Given the description of an element on the screen output the (x, y) to click on. 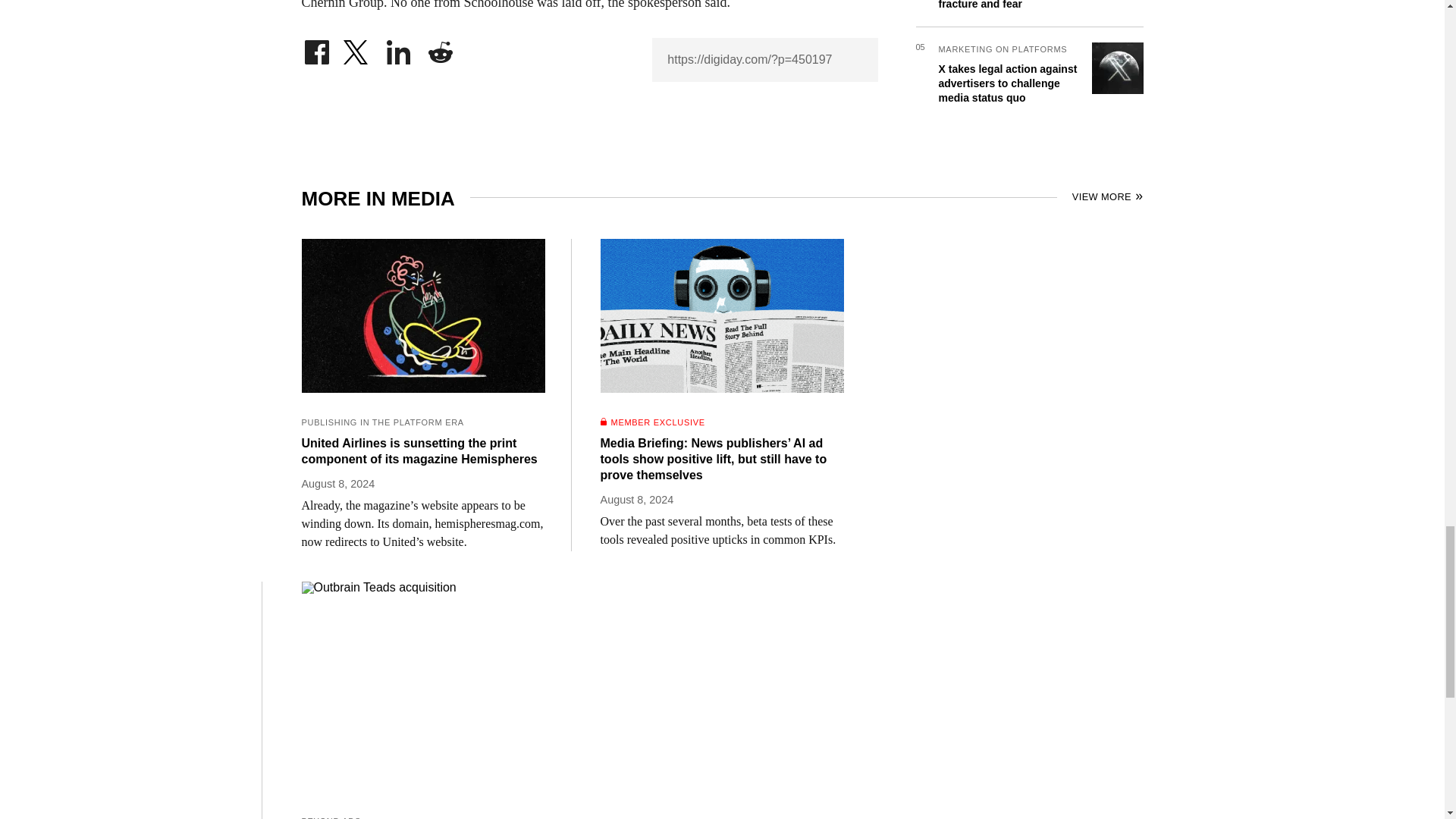
Share on LinkedIn (398, 48)
Share on Reddit (440, 48)
Share on Facebook (316, 48)
Share on Twitter (357, 48)
